Given the description of an element on the screen output the (x, y) to click on. 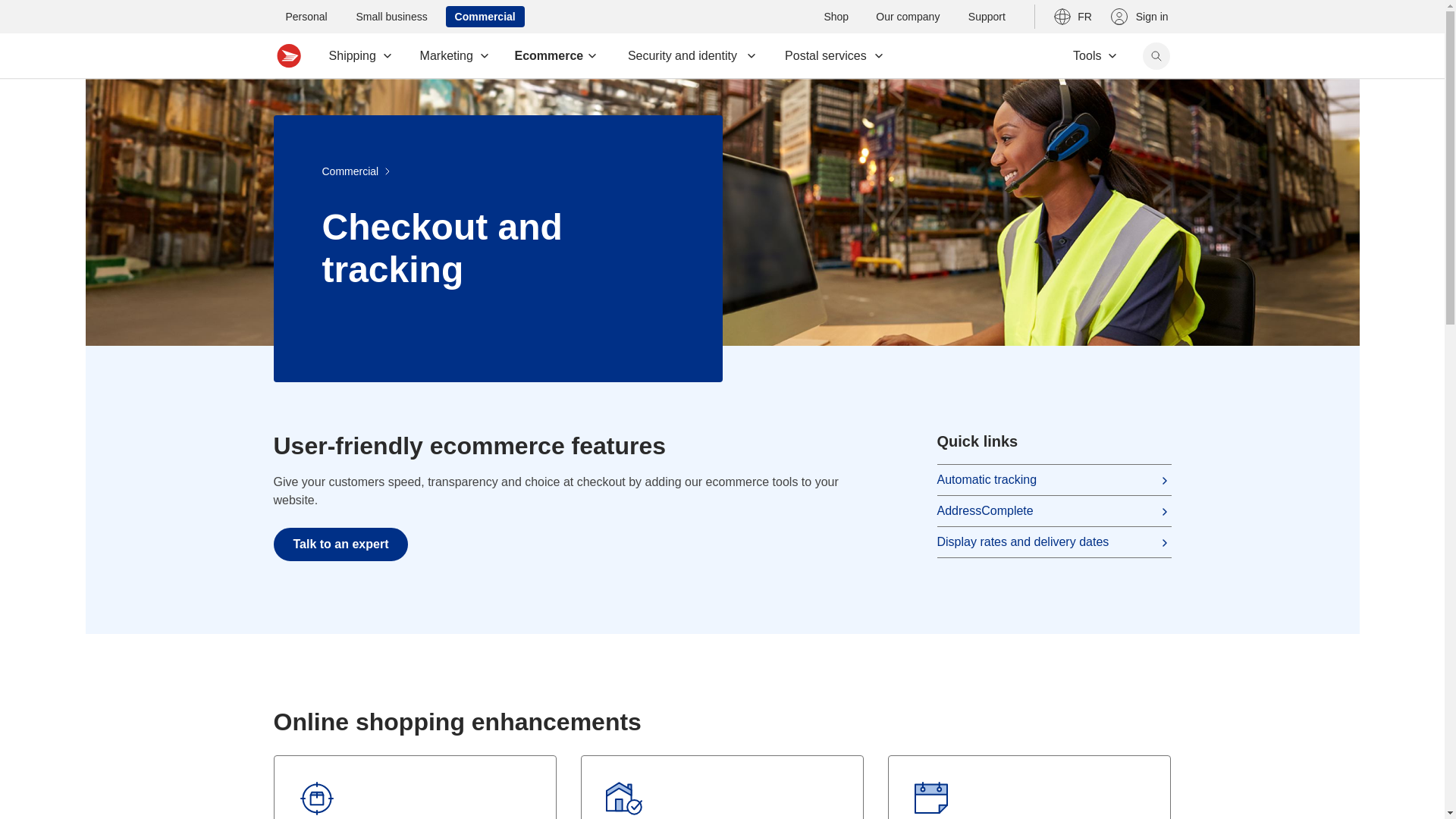
Commercial (484, 16)
Sign in (1139, 16)
Small business (391, 16)
FR (1072, 16)
Marketing (453, 55)
Personal (306, 16)
Security and identity (690, 55)
Tools (1094, 55)
Shop (836, 16)
Our company (907, 16)
Ecommerce (556, 55)
Support (986, 16)
Shipping (359, 55)
Postal services (833, 55)
